Given the description of an element on the screen output the (x, y) to click on. 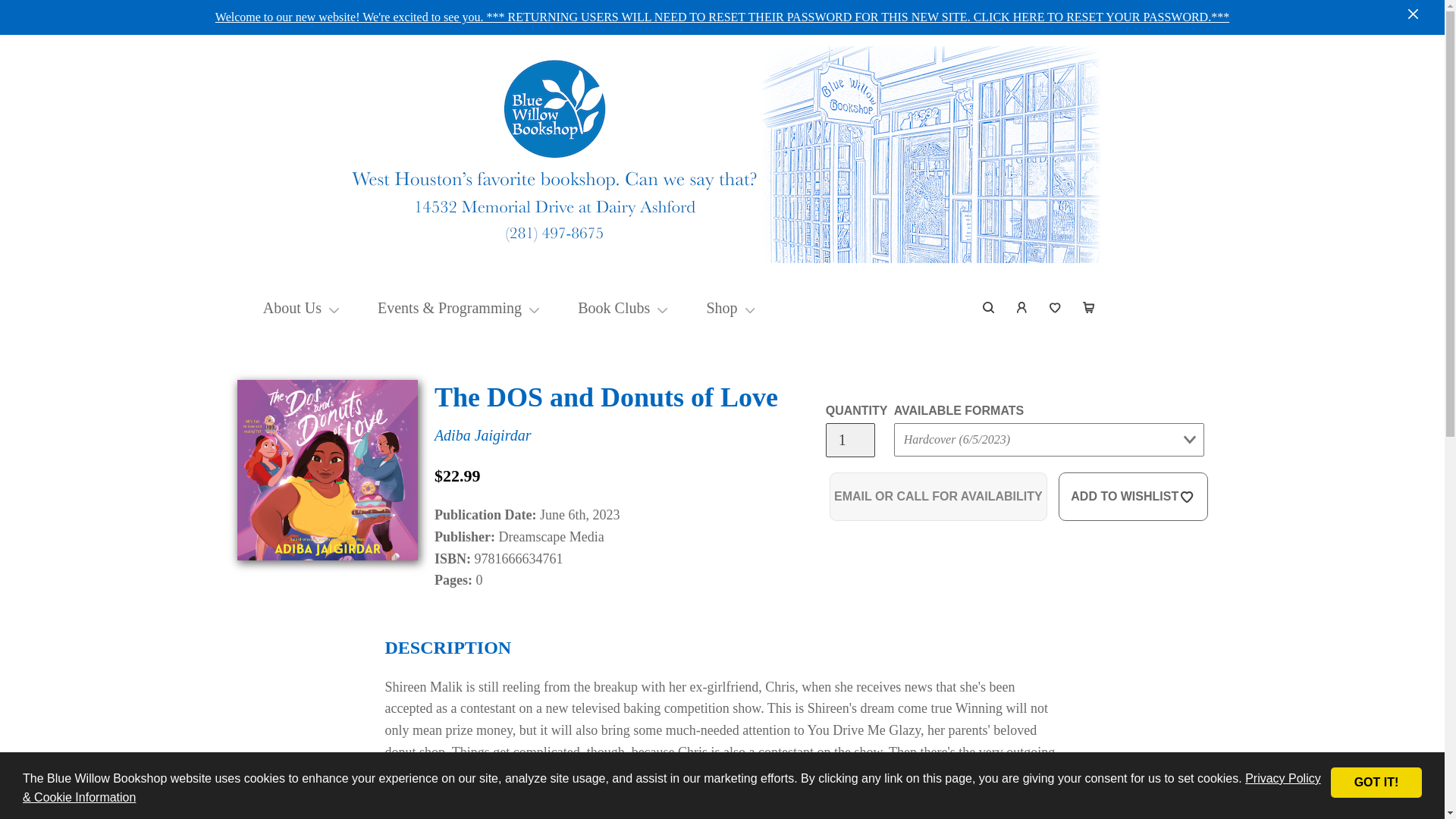
1 (850, 440)
Search (989, 307)
About Us (292, 307)
Log in (1022, 307)
Cart (1088, 307)
Email or Call for Availability (937, 496)
Book Clubs (613, 307)
Wishlists (1055, 307)
Wishlist (1055, 307)
Cart (1088, 307)
Log in (1022, 307)
SEARCH (989, 307)
